Given the description of an element on the screen output the (x, y) to click on. 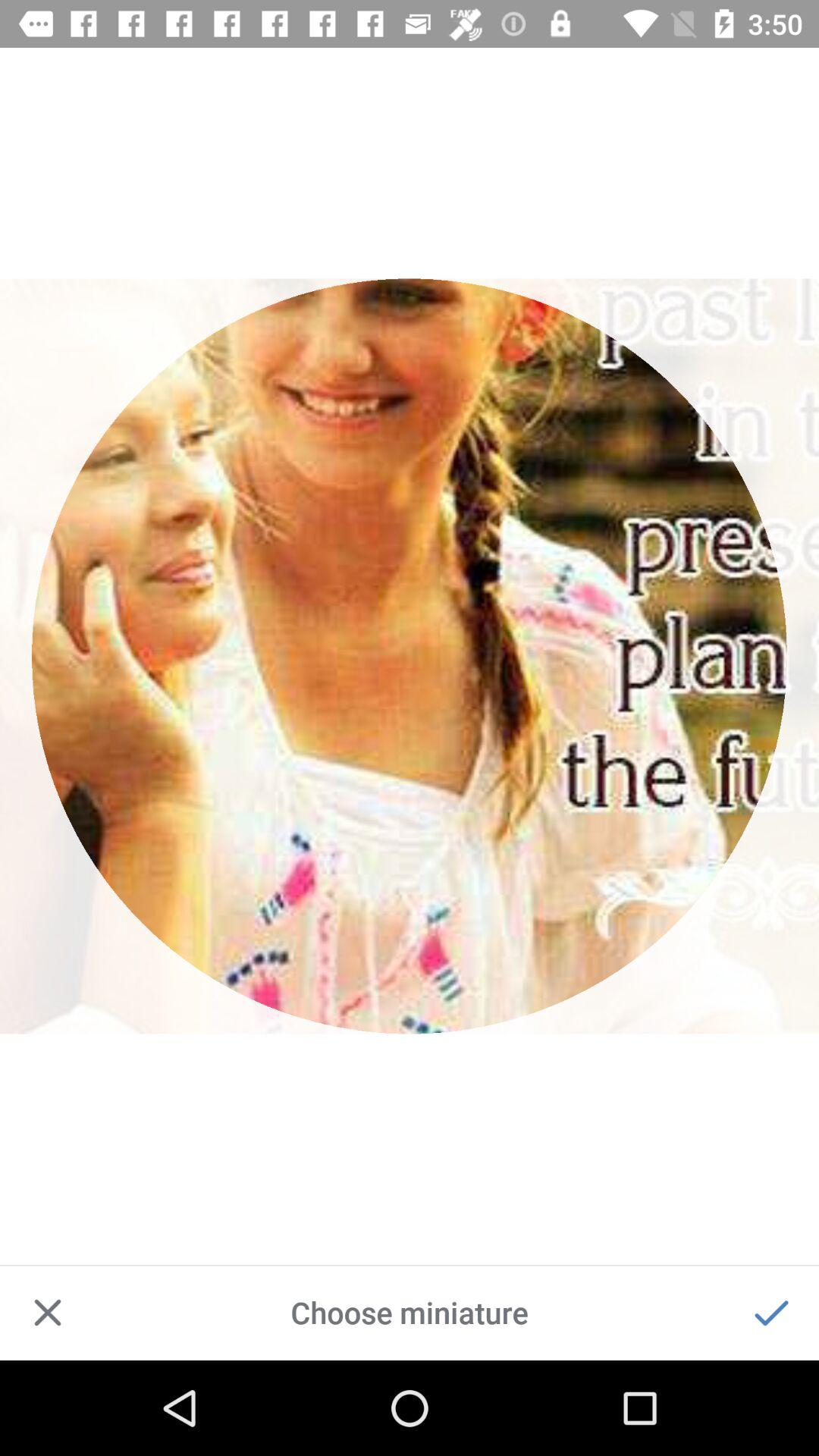
close (47, 1312)
